Given the description of an element on the screen output the (x, y) to click on. 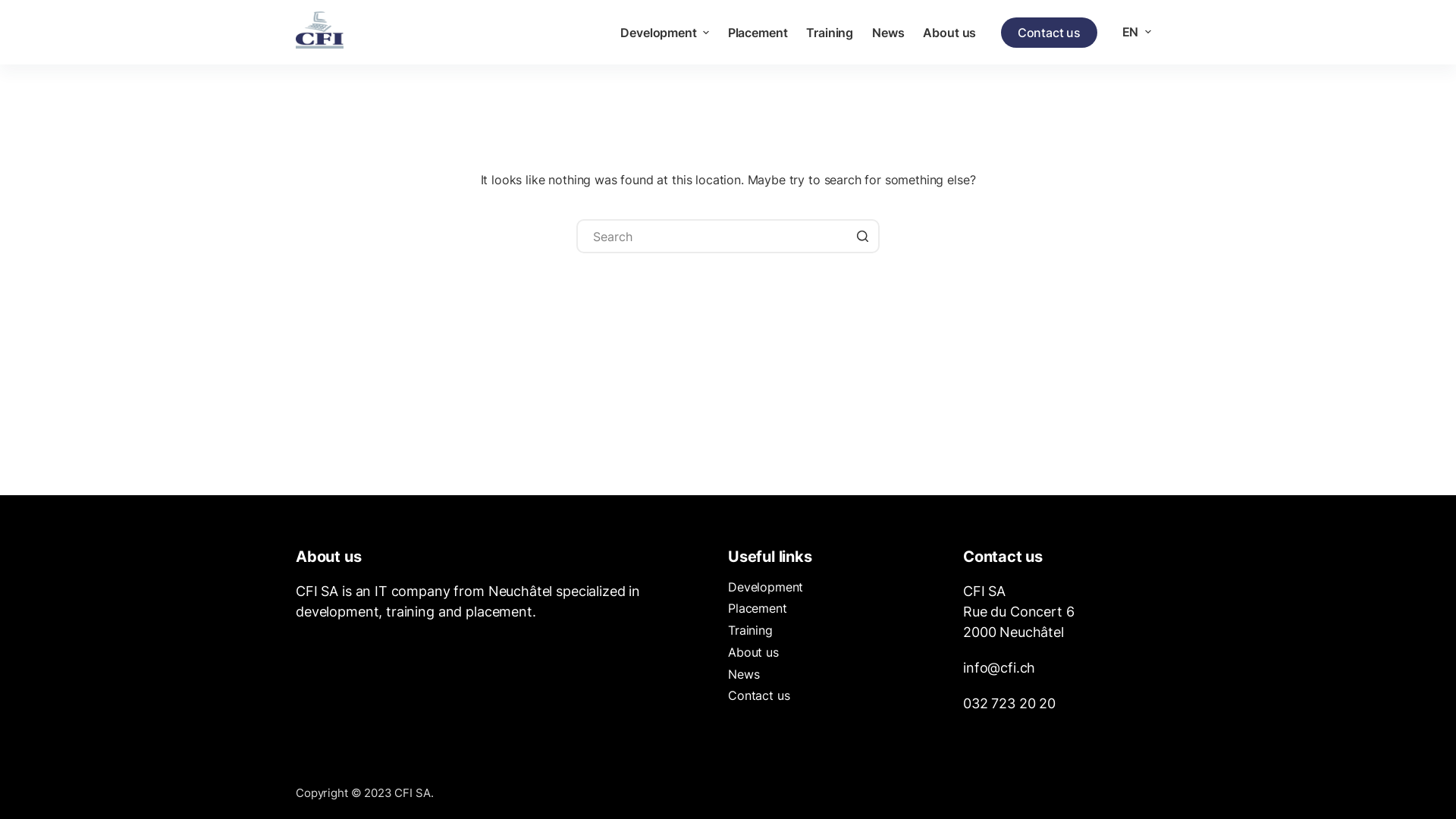
Placement Element type: text (757, 32)
EN Element type: text (1136, 31)
Contact us Element type: text (1049, 31)
News Element type: text (887, 32)
Search for... Element type: hover (727, 236)
Training Element type: text (829, 32)
News Element type: text (743, 673)
Training Element type: text (750, 629)
About us Element type: text (753, 651)
Development Element type: text (664, 32)
Contact us Element type: text (758, 694)
Placement Element type: text (757, 607)
Development Element type: text (765, 586)
Skip to content Element type: text (15, 7)
About us Element type: text (949, 32)
